Given the description of an element on the screen output the (x, y) to click on. 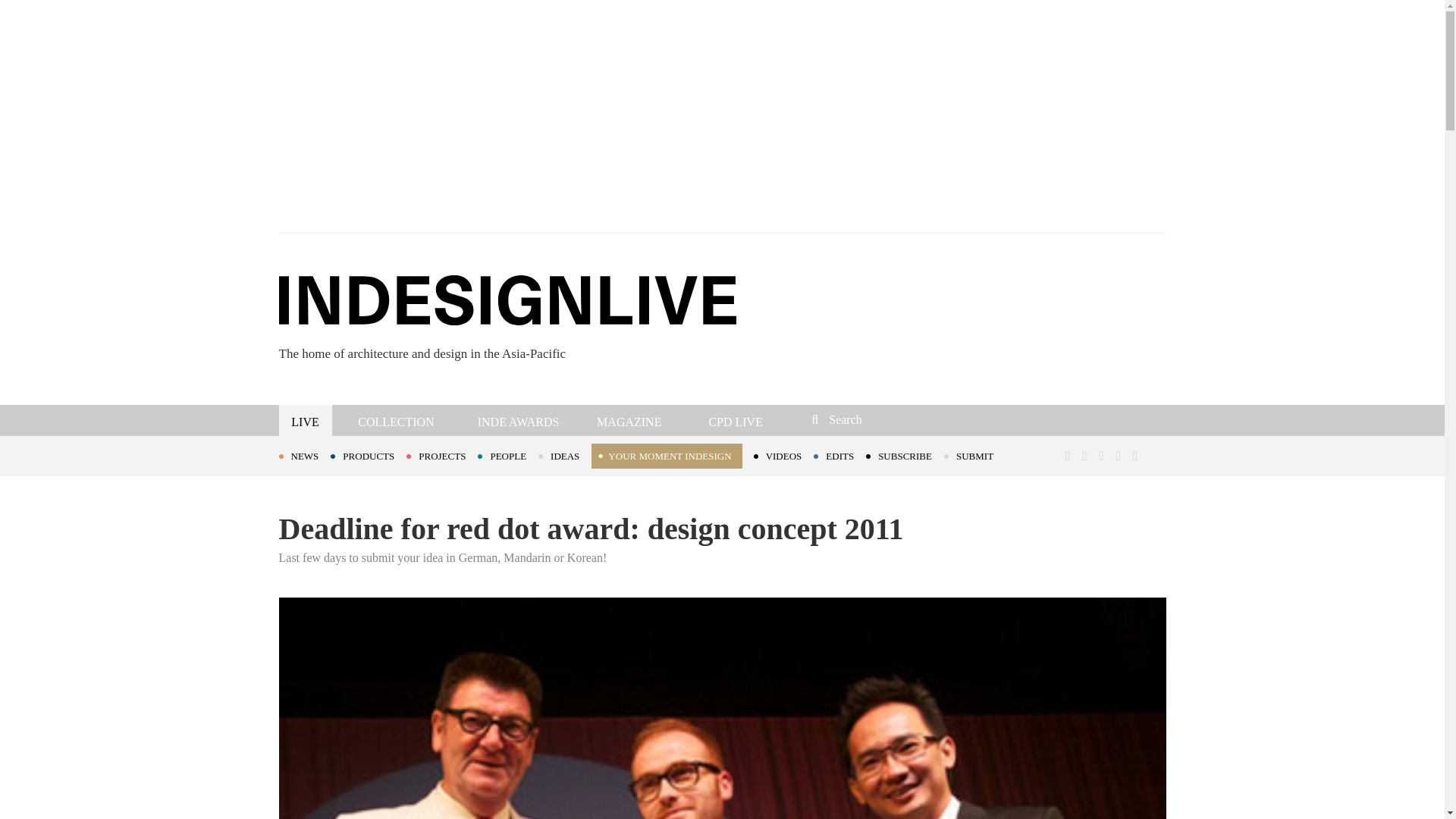
NEWS (305, 455)
PROJECTS (441, 455)
VIDEOS (783, 455)
EDITS (839, 455)
PRODUCTS (368, 455)
SUBMIT (974, 455)
PEOPLE (507, 455)
Search (913, 418)
SUBSCRIBE (904, 455)
